Given the description of an element on the screen output the (x, y) to click on. 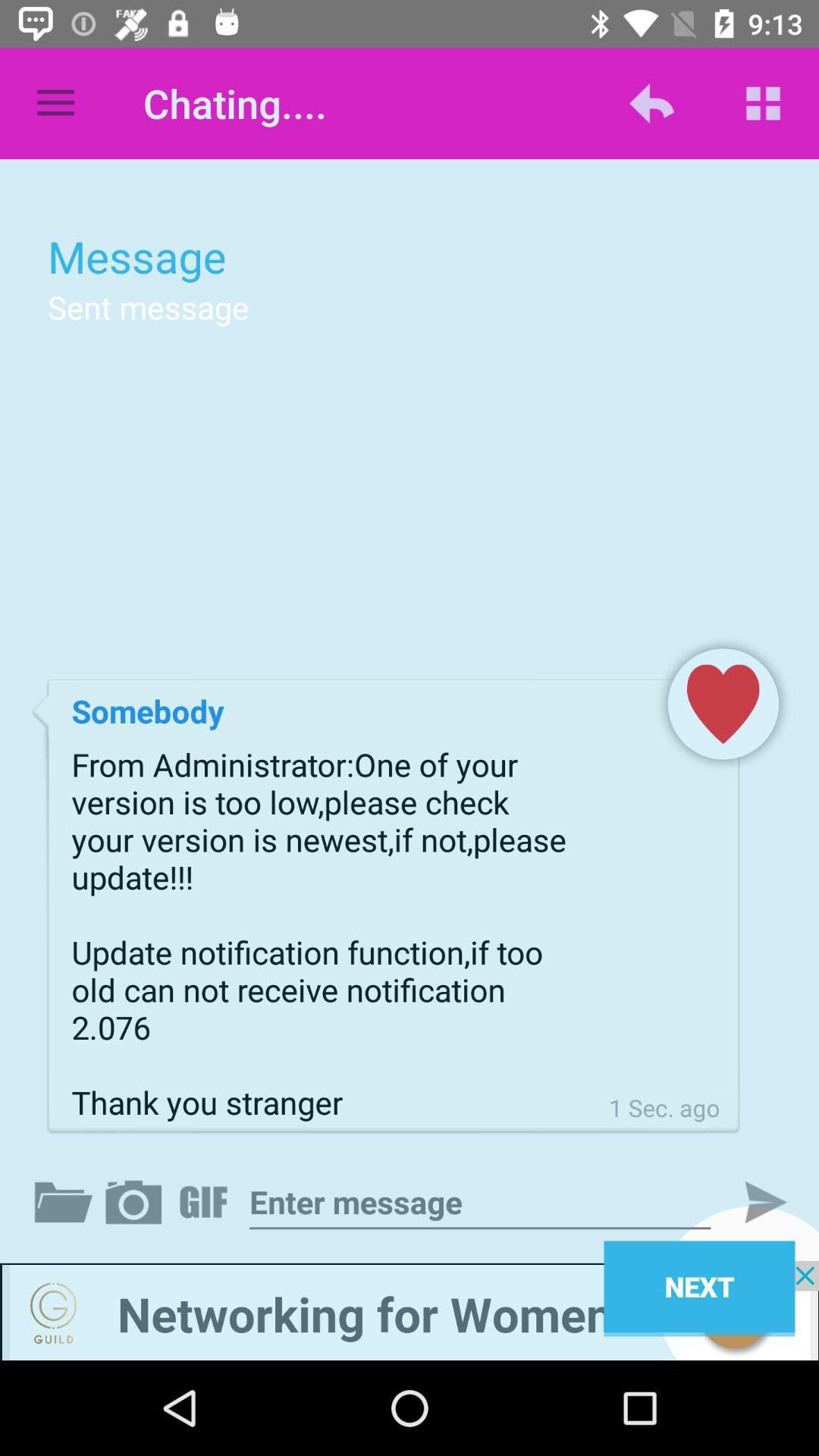
upload image (136, 1202)
